Given the description of an element on the screen output the (x, y) to click on. 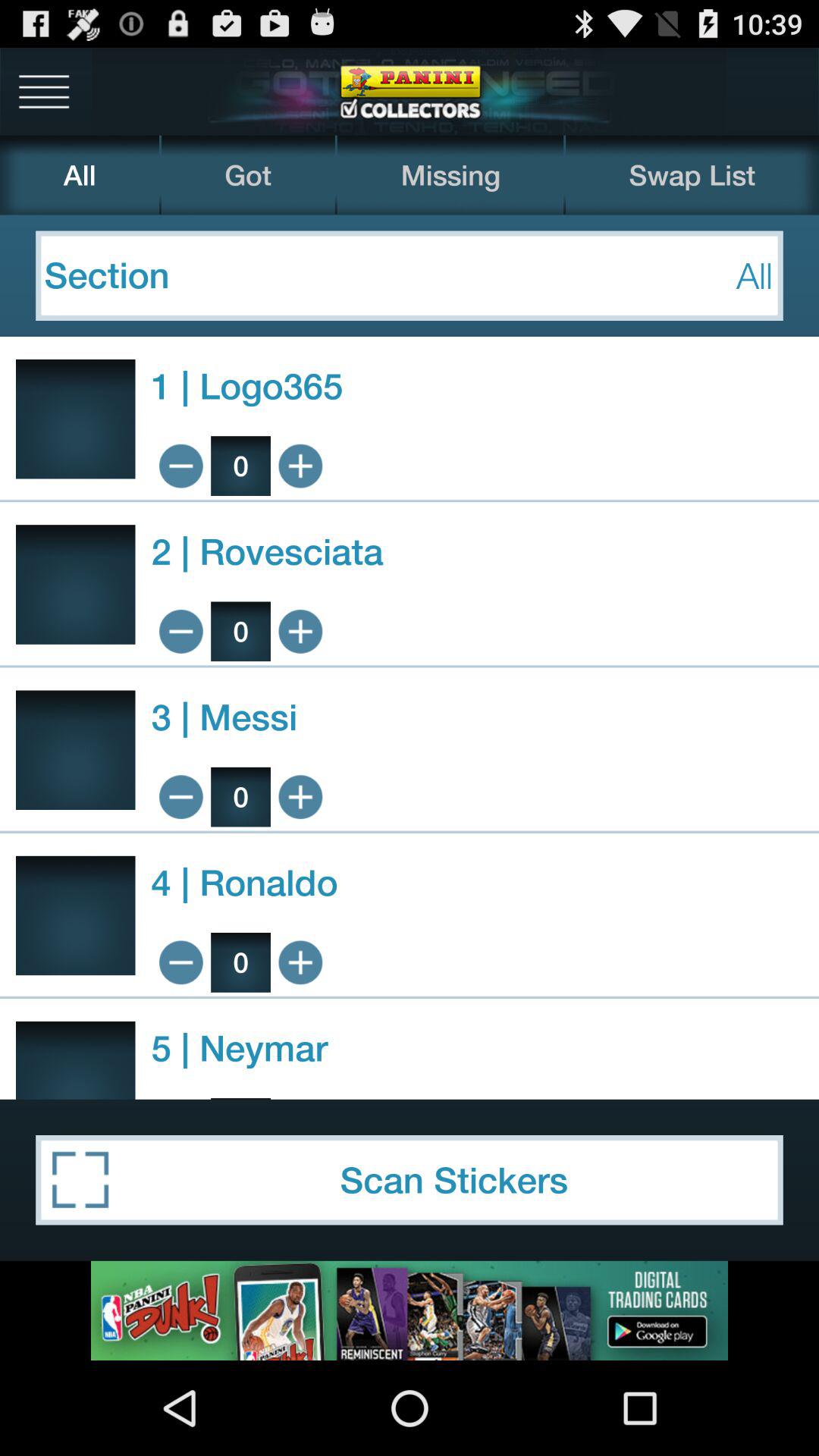
minimize maximize minus plus (181, 465)
